Given the description of an element on the screen output the (x, y) to click on. 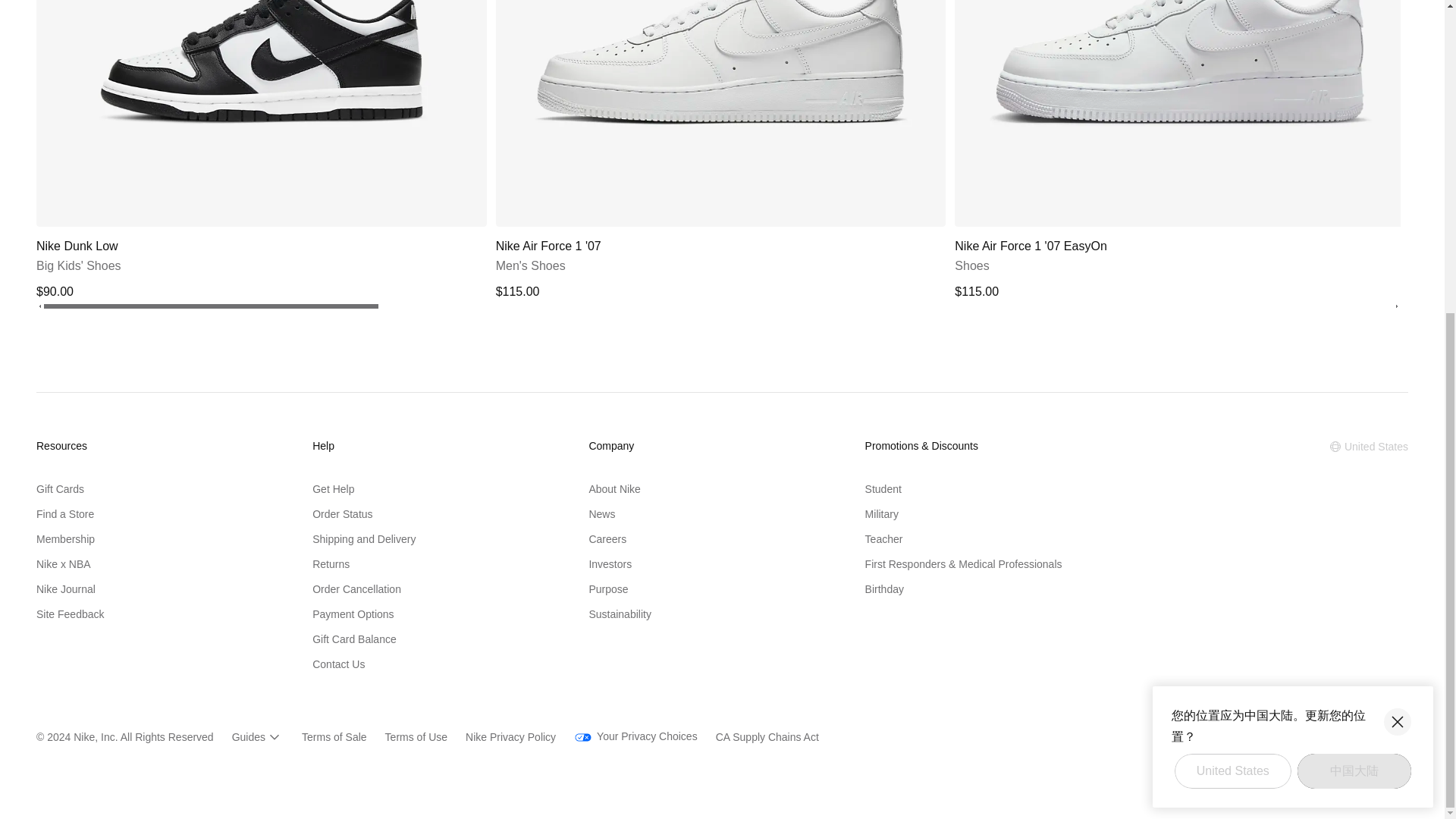
Selected Location: United States (1368, 446)
